Given the description of an element on the screen output the (x, y) to click on. 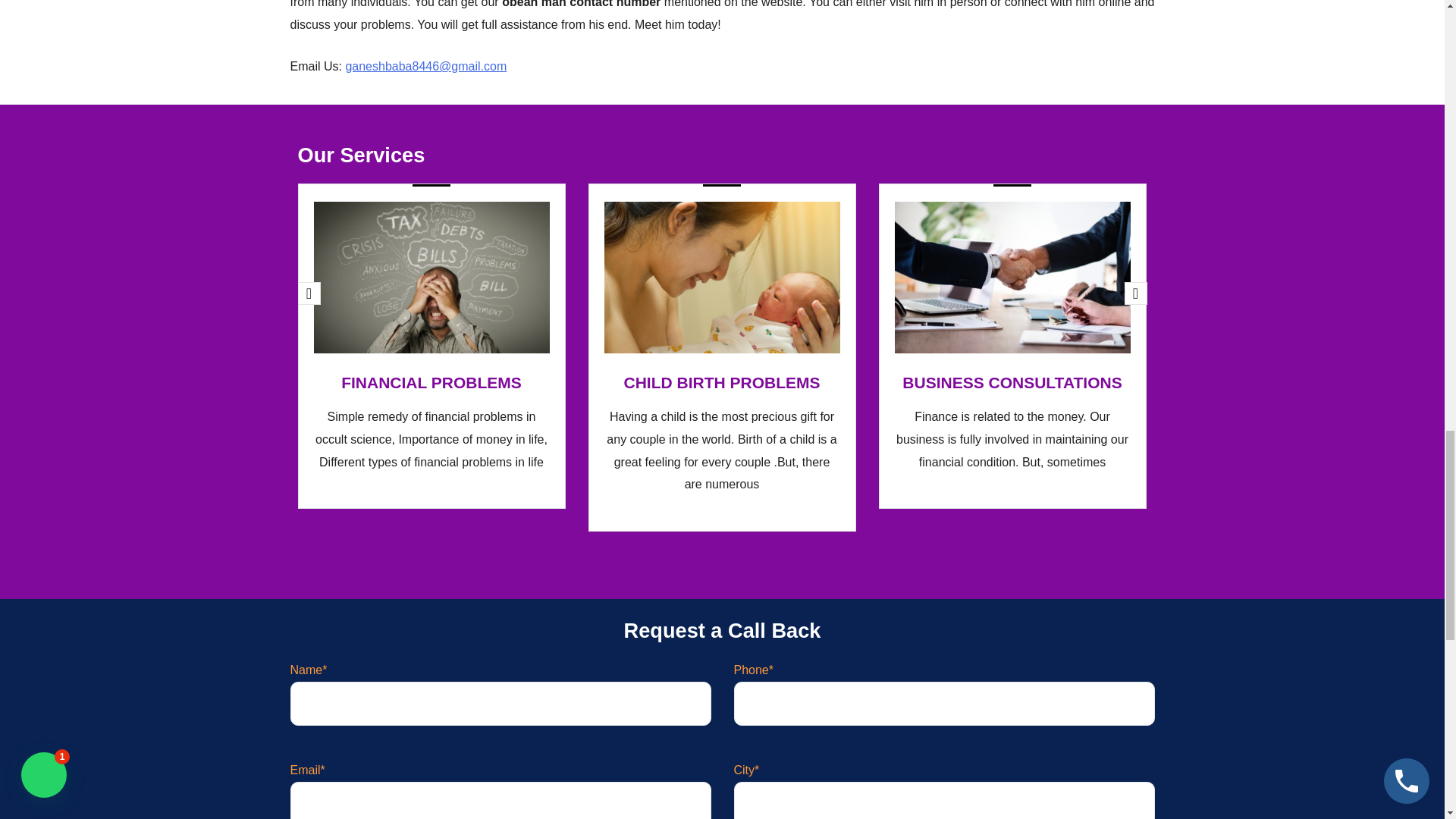
next item (1135, 292)
previous item (308, 292)
